Given the description of an element on the screen output the (x, y) to click on. 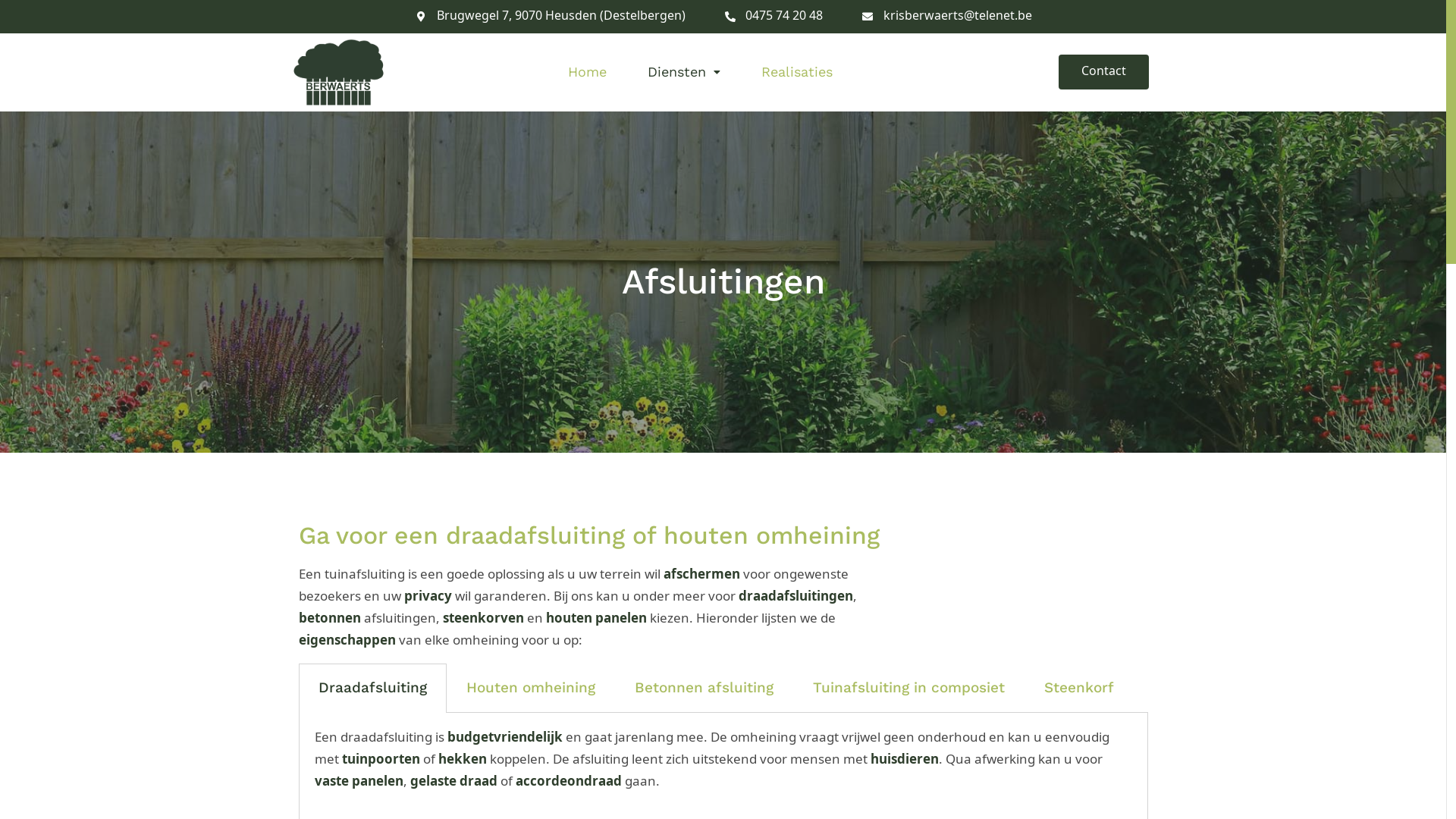
Realisaties Element type: text (796, 71)
krisberwaerts@telenet.be Element type: text (946, 16)
Home Element type: text (587, 71)
0475 74 20 48 Element type: text (773, 16)
Diensten Element type: text (683, 71)
Contact Element type: text (1103, 71)
Brugwegel 7, 9070 Heusden (Destelbergen) Element type: text (549, 16)
